Given the description of an element on the screen output the (x, y) to click on. 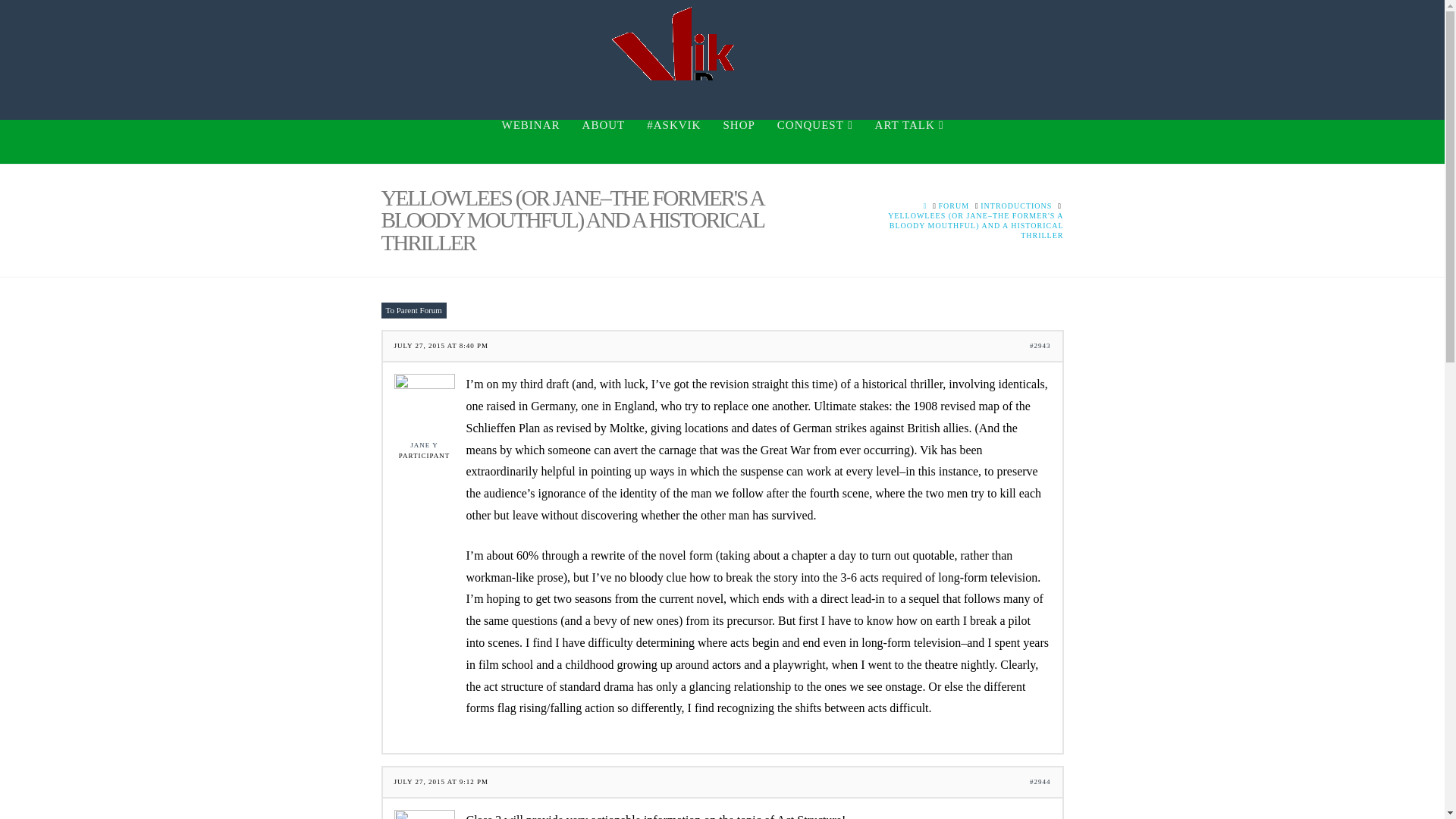
ART TALK (909, 141)
View Jane Y's profile (424, 410)
CONQUEST (814, 141)
HOME (925, 205)
View Vik Rubenfeld's profile (424, 814)
You Are Here (960, 225)
WEBINAR (530, 141)
INTRODUCTIONS (1015, 205)
FORUM (954, 205)
ABOUT (603, 141)
SHOP (738, 141)
To Parent Forum (412, 310)
